Given the description of an element on the screen output the (x, y) to click on. 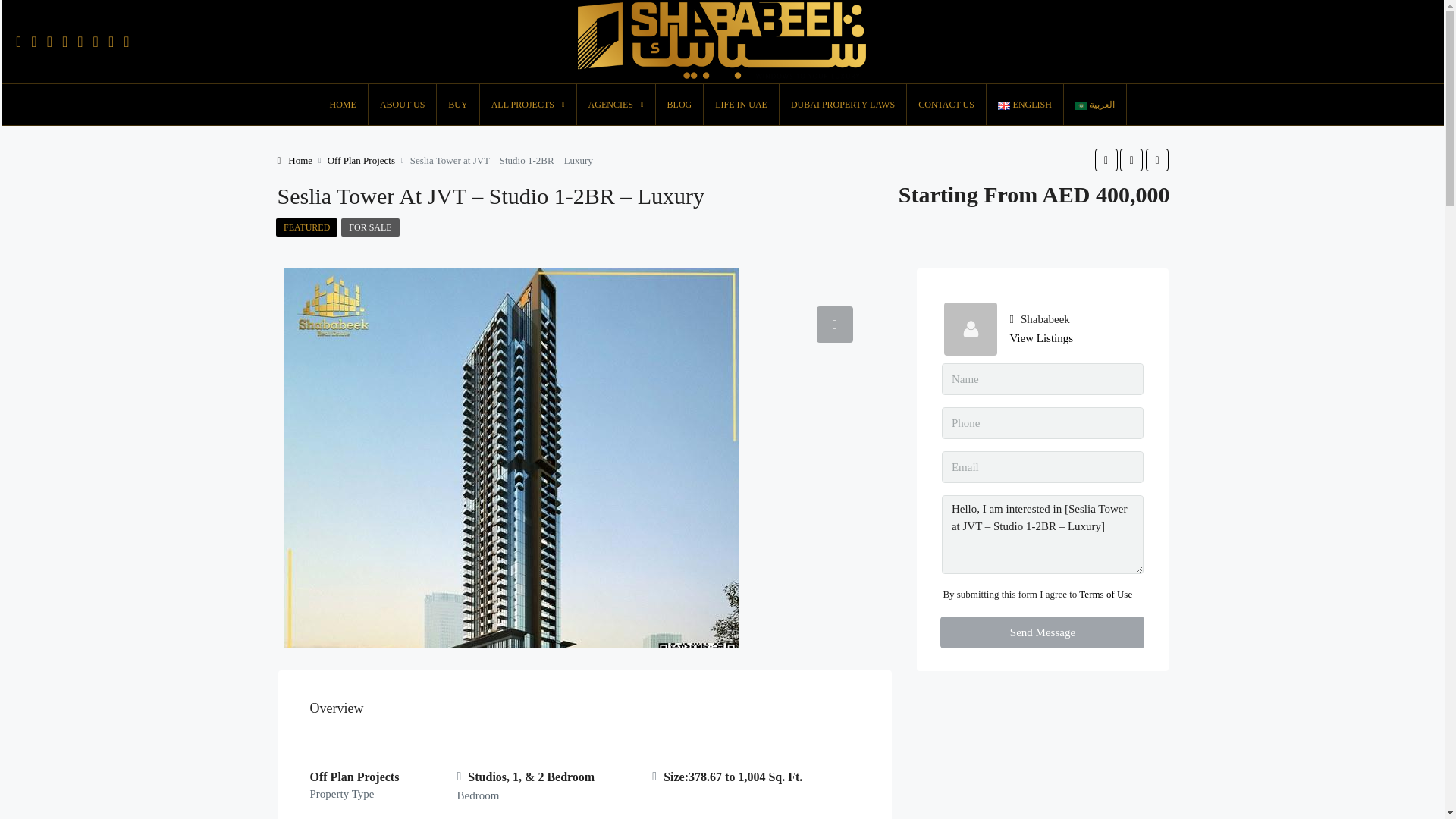
AGENCIES (615, 104)
BUY (457, 104)
ALL PROJECTS (528, 104)
LIFE IN UAE (740, 104)
HOME (343, 104)
ABOUT US (401, 104)
DUBAI PROPERTY LAWS (841, 104)
BLOG (679, 104)
